Given the description of an element on the screen output the (x, y) to click on. 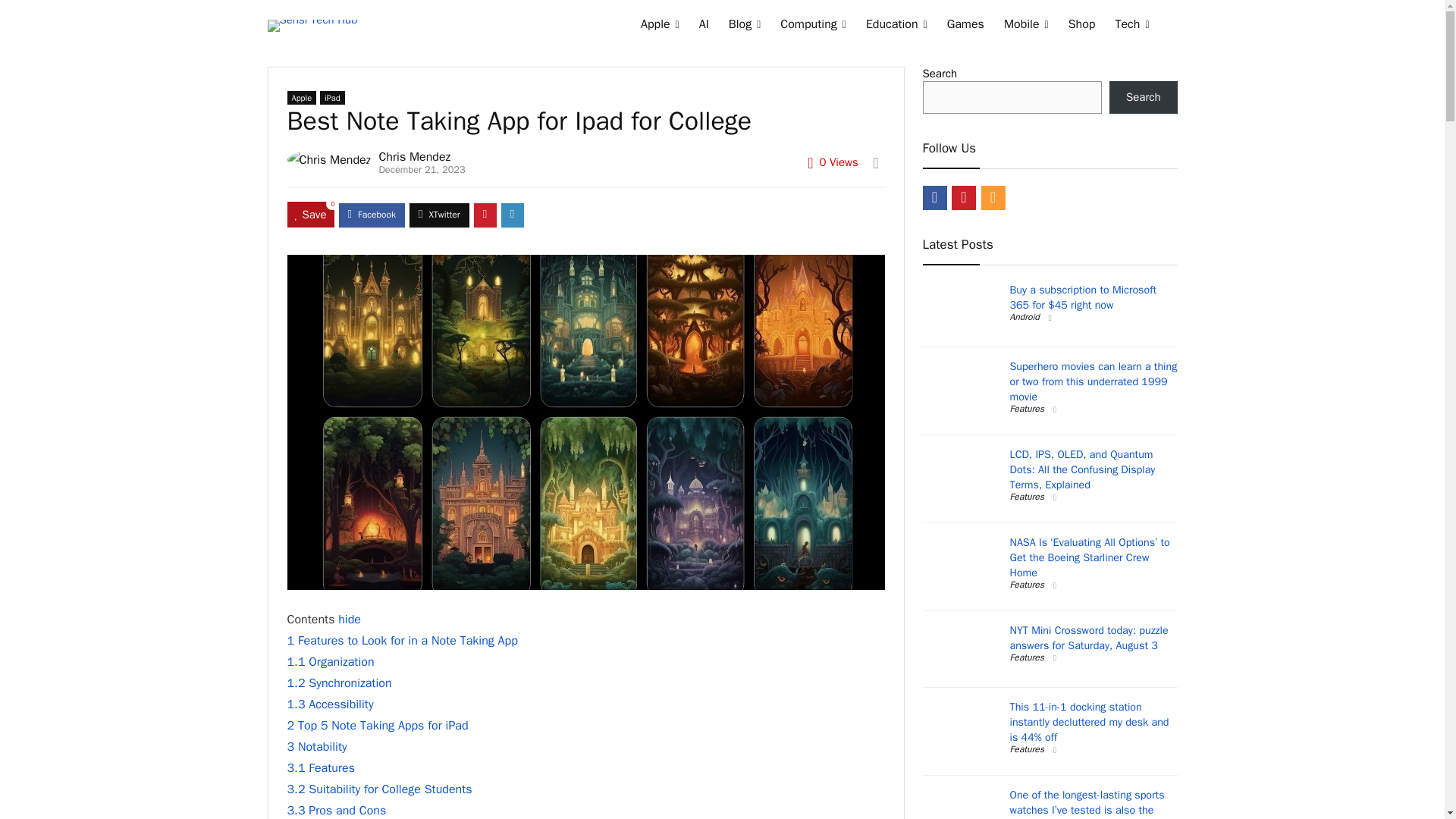
Computing (813, 25)
Games (965, 25)
Shop (1081, 25)
RSS (993, 197)
iPad (332, 97)
1.1 Organization (330, 661)
AI (703, 25)
Tech (1131, 25)
Blog (744, 25)
